Given the description of an element on the screen output the (x, y) to click on. 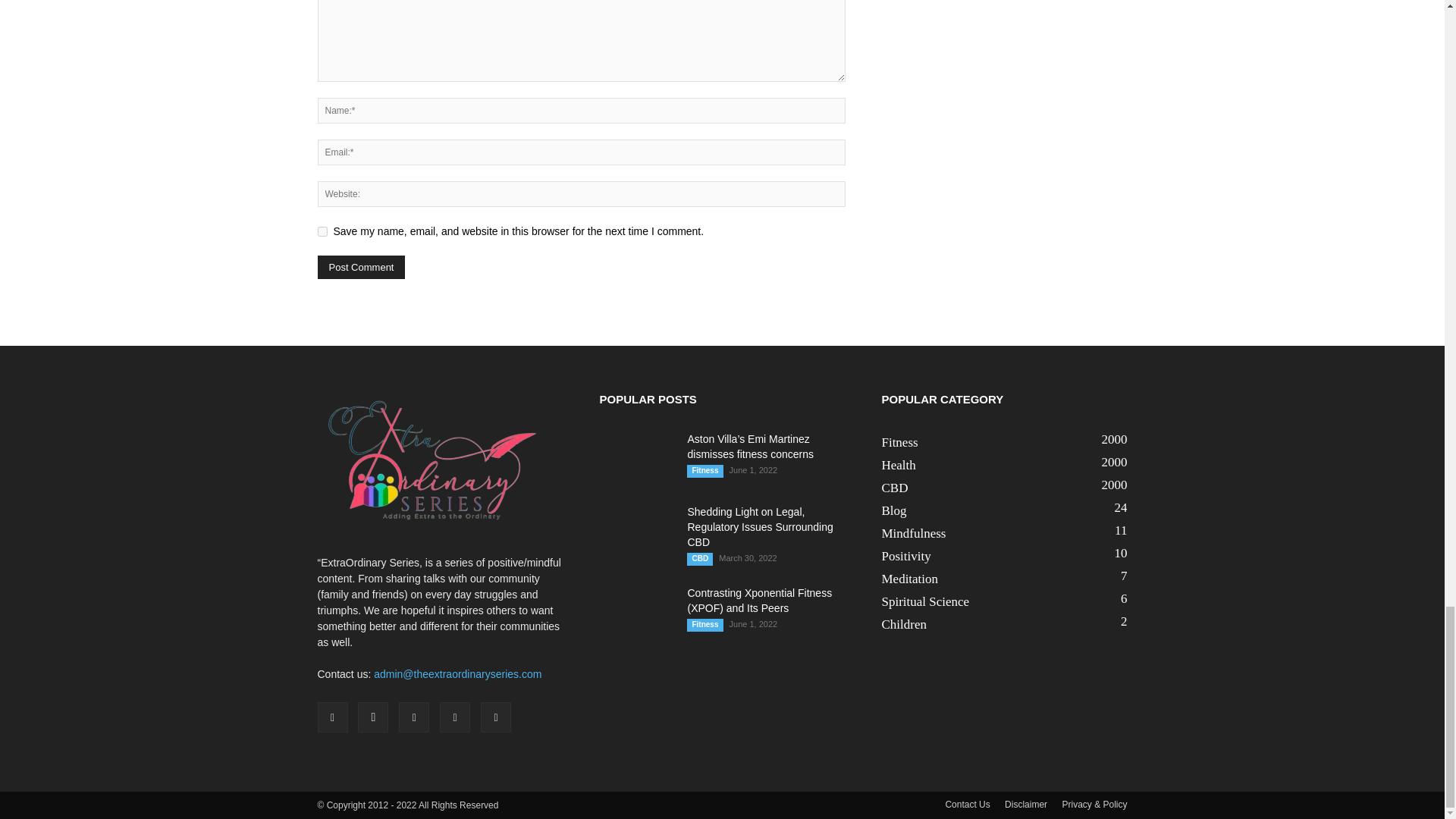
yes (321, 231)
Post Comment (360, 267)
